Given the description of an element on the screen output the (x, y) to click on. 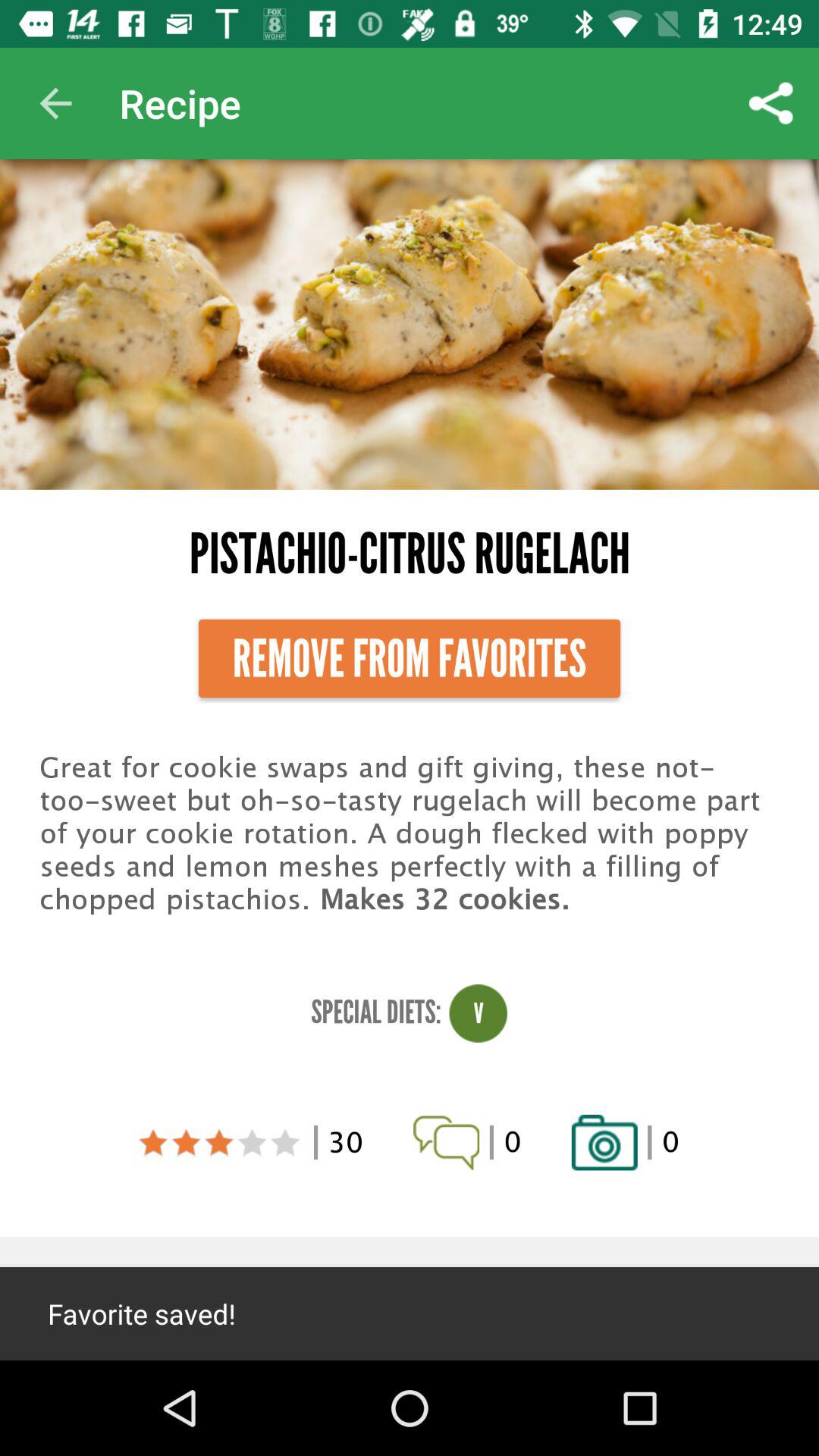
select the remove from favorites (409, 658)
